Given the description of an element on the screen output the (x, y) to click on. 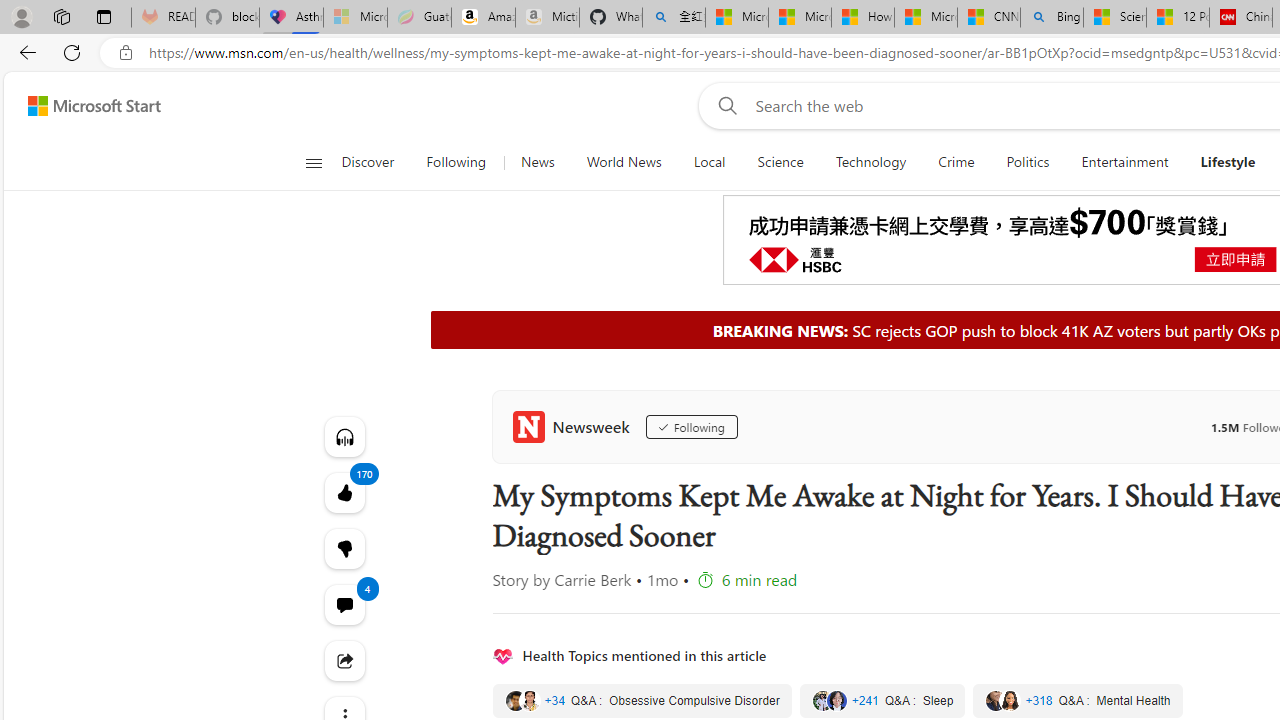
Class: at-item (343, 660)
Sleep (882, 700)
